Given the description of an element on the screen output the (x, y) to click on. 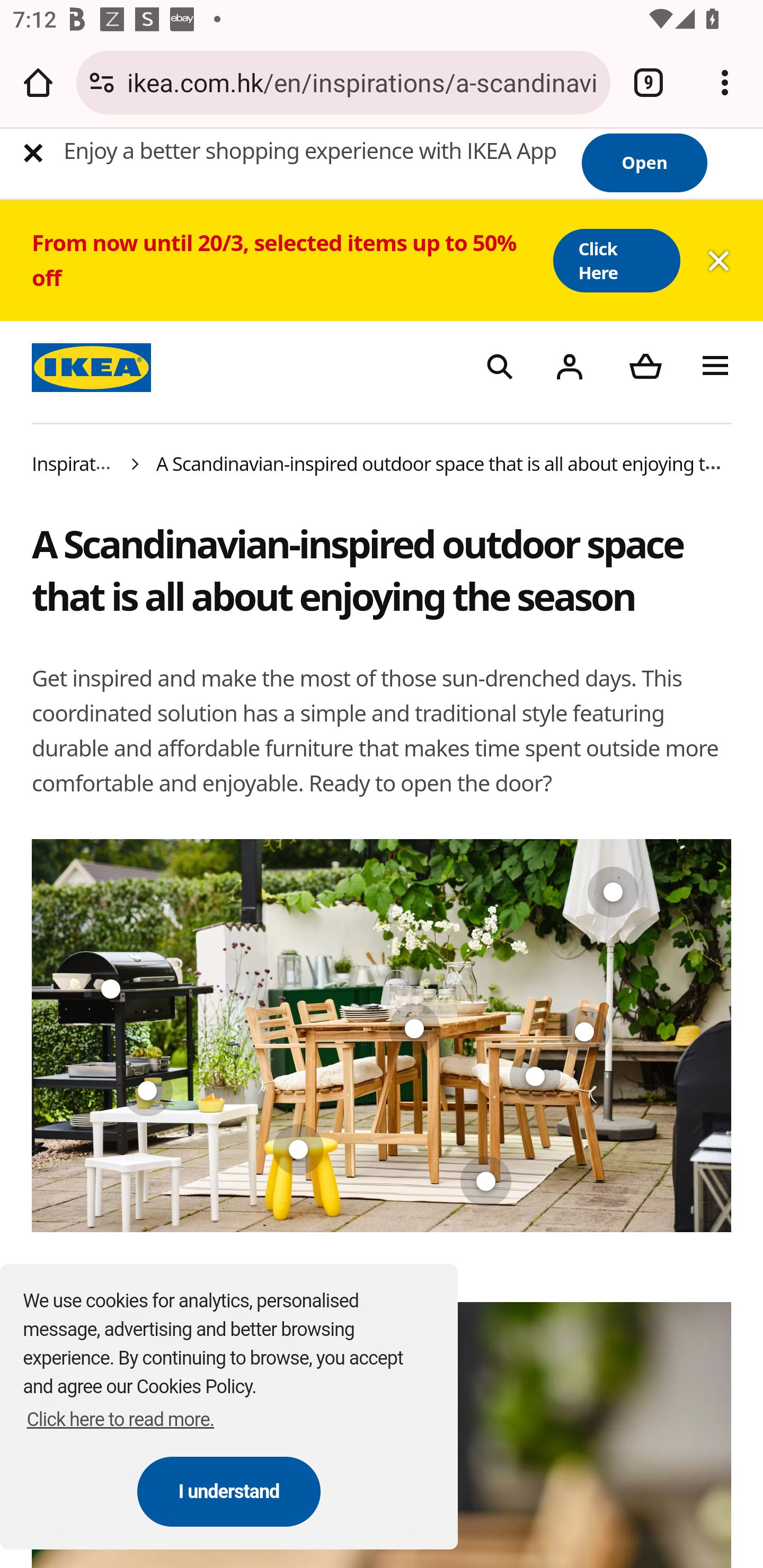
Open the home page (38, 82)
Connection is secure (101, 82)
Switch or close tabs (648, 82)
Customize and control Google Chrome (724, 82)
Close (32, 152)
Open (644, 162)
Click Here (615, 259)
IKEA (94, 365)
 (569, 364)
 (645, 364)
Inspiration (77, 462)
learn more about cookies (120, 1418)
dismiss cookie message (228, 1491)
